Given the description of an element on the screen output the (x, y) to click on. 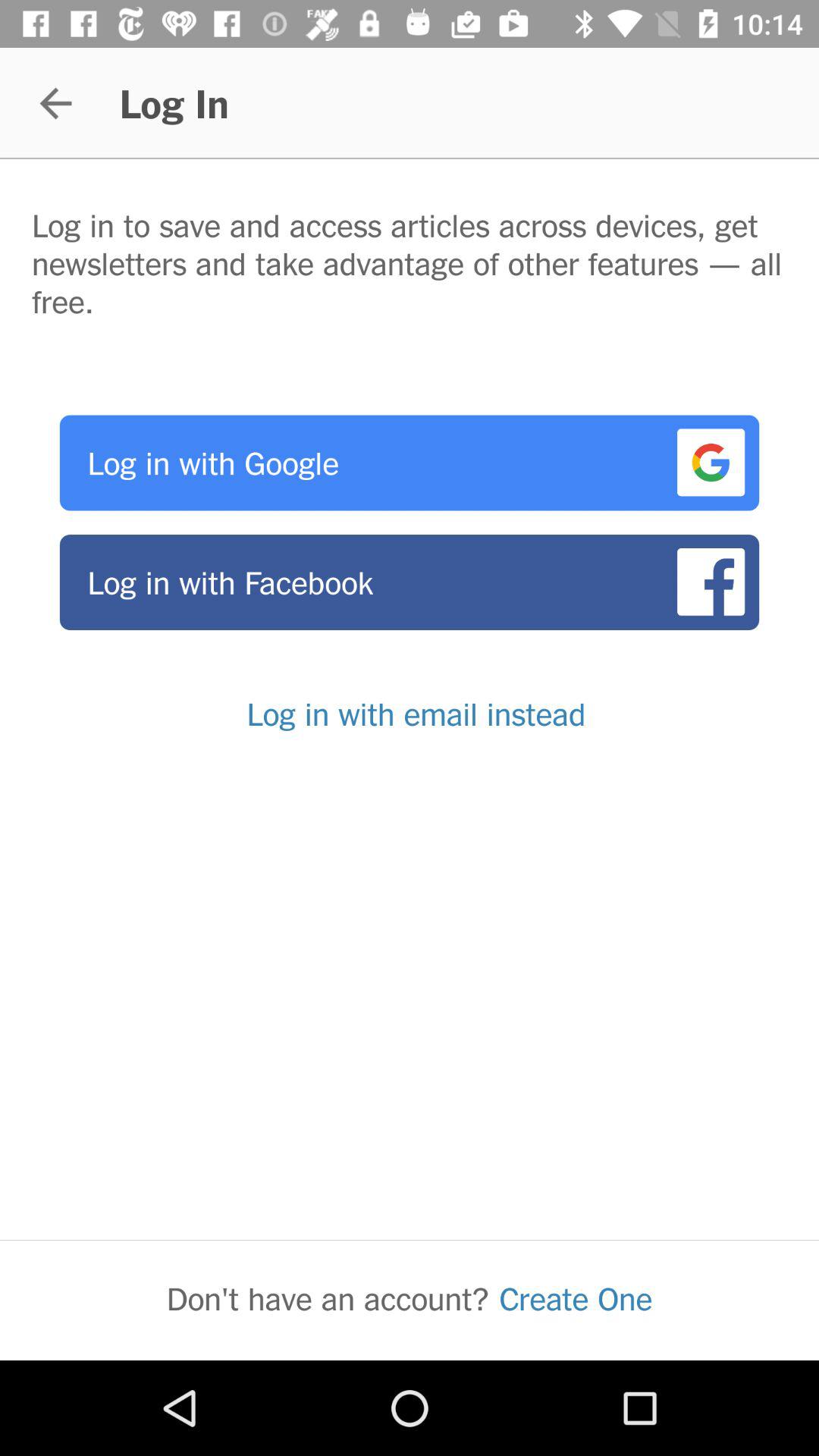
press the item to the left of log in icon (55, 103)
